Given the description of an element on the screen output the (x, y) to click on. 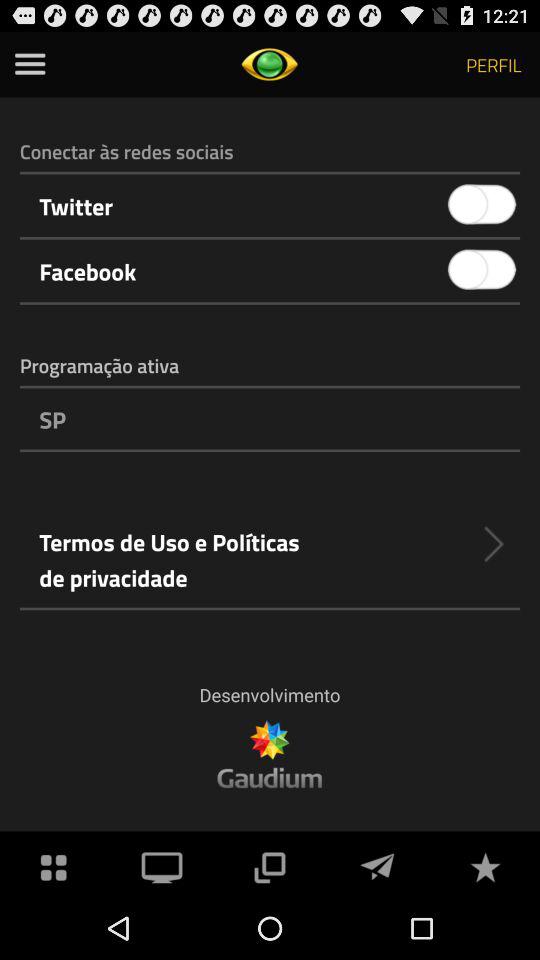
toggle connect to facebook (482, 270)
